Given the description of an element on the screen output the (x, y) to click on. 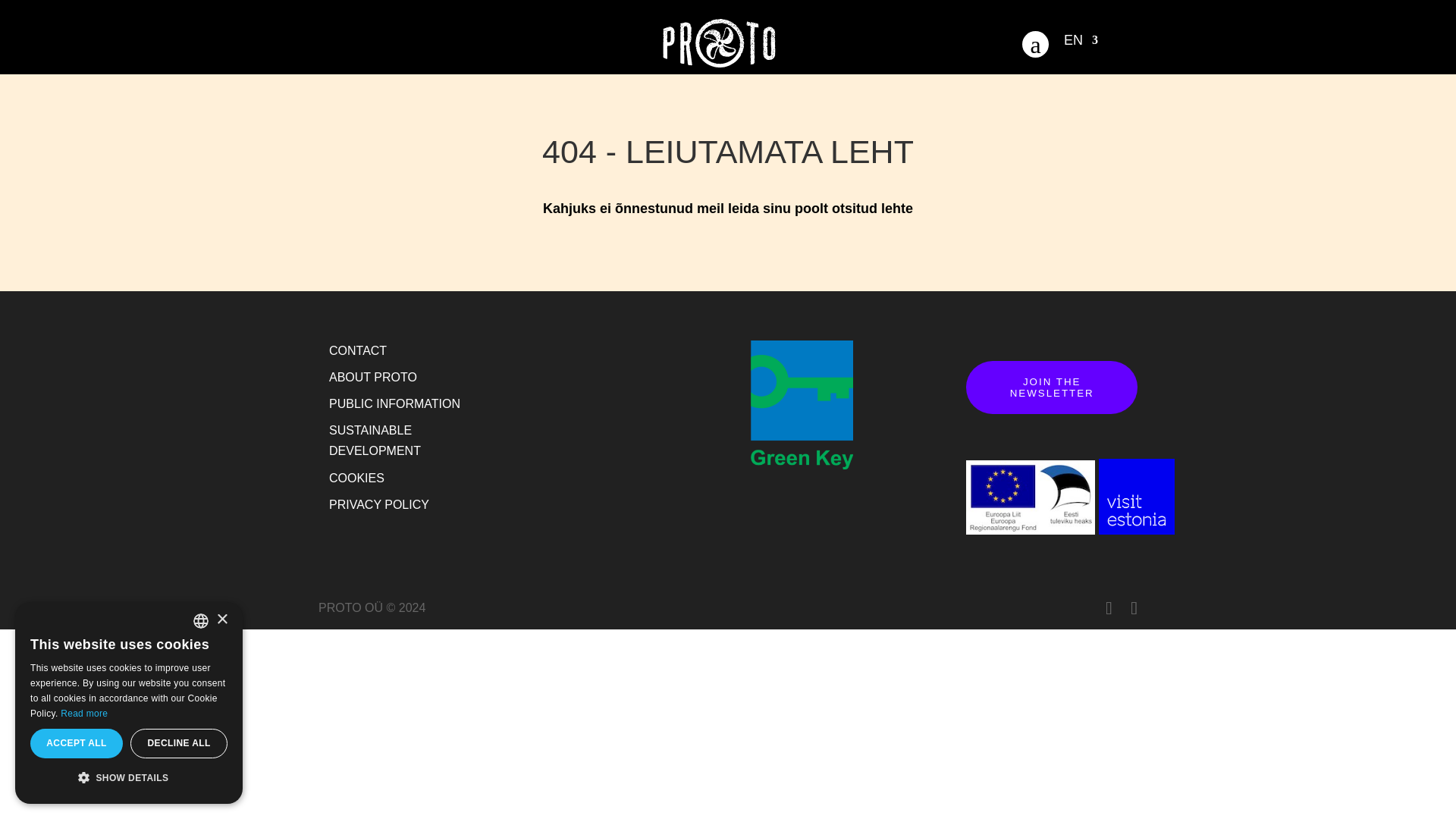
EN (1080, 45)
EN (1080, 45)
